Given the description of an element on the screen output the (x, y) to click on. 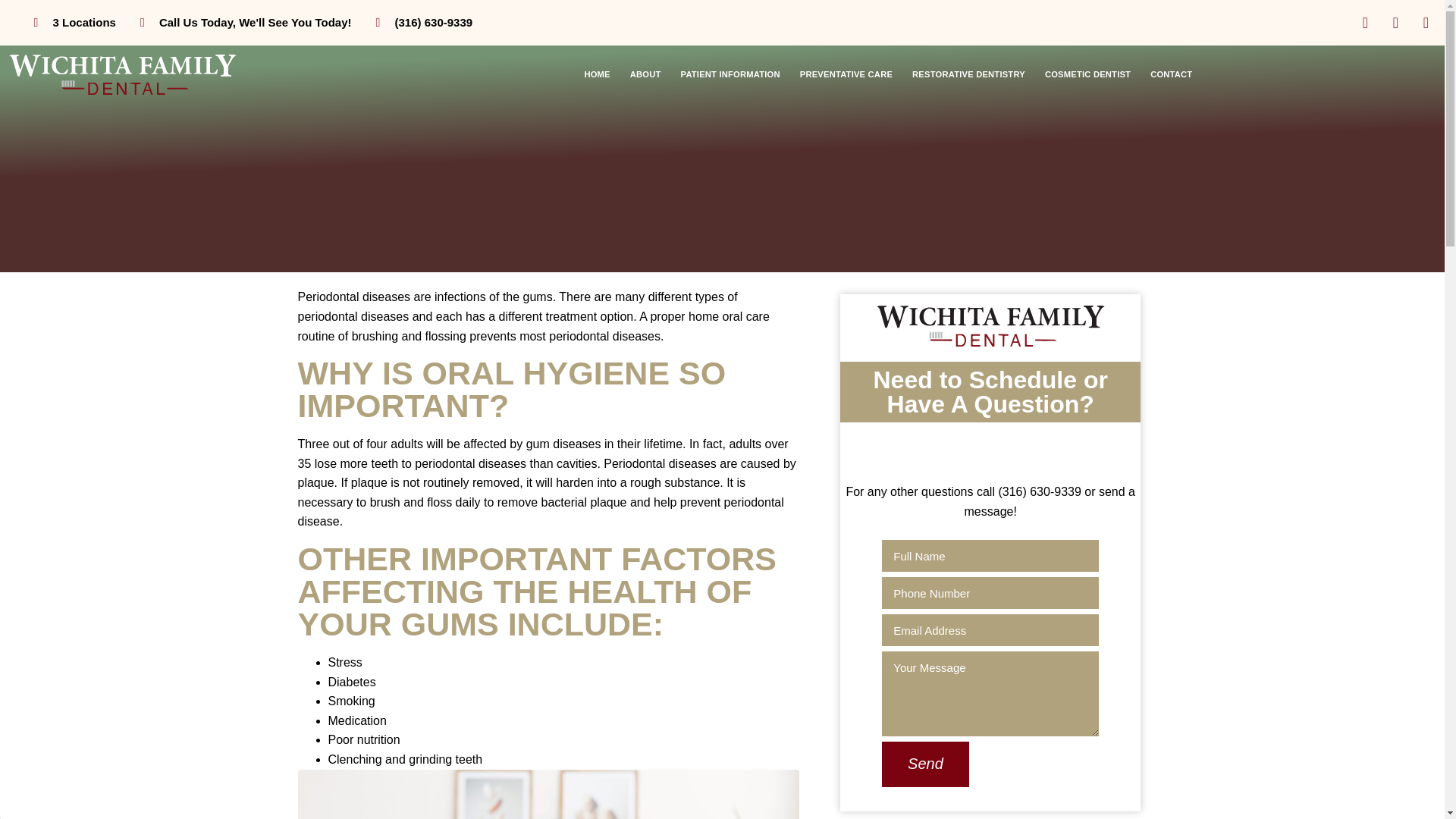
HOME (596, 74)
PATIENT INFORMATION (730, 74)
PREVENTATIVE CARE (846, 74)
ABOUT (645, 74)
